Given the description of an element on the screen output the (x, y) to click on. 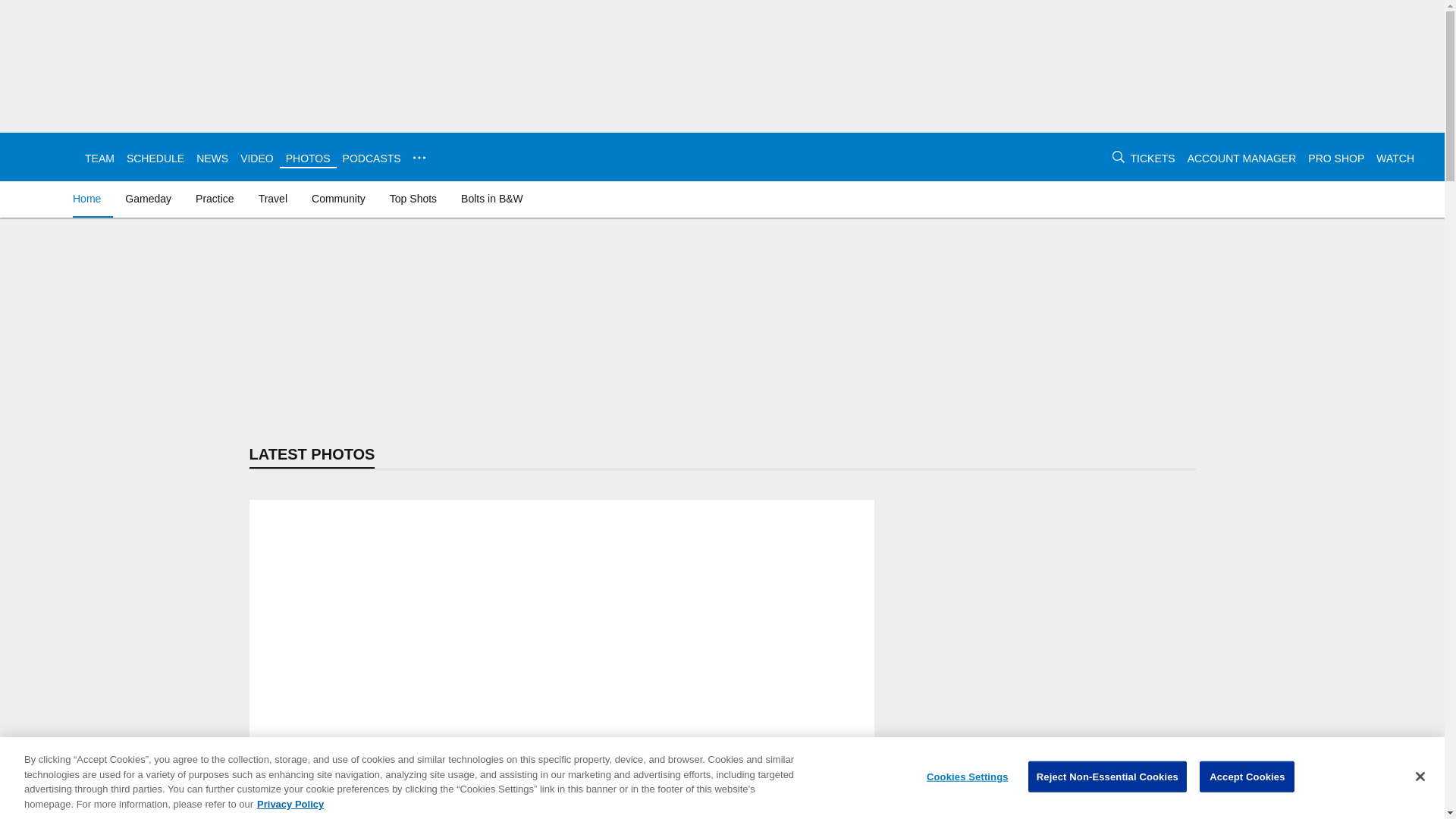
WATCH (1394, 158)
PODCASTS (371, 158)
Community (338, 198)
TEAM (99, 158)
Home (89, 198)
PHOTOS (307, 158)
VIDEO (256, 158)
... (419, 157)
TICKETS (1152, 158)
